Given the description of an element on the screen output the (x, y) to click on. 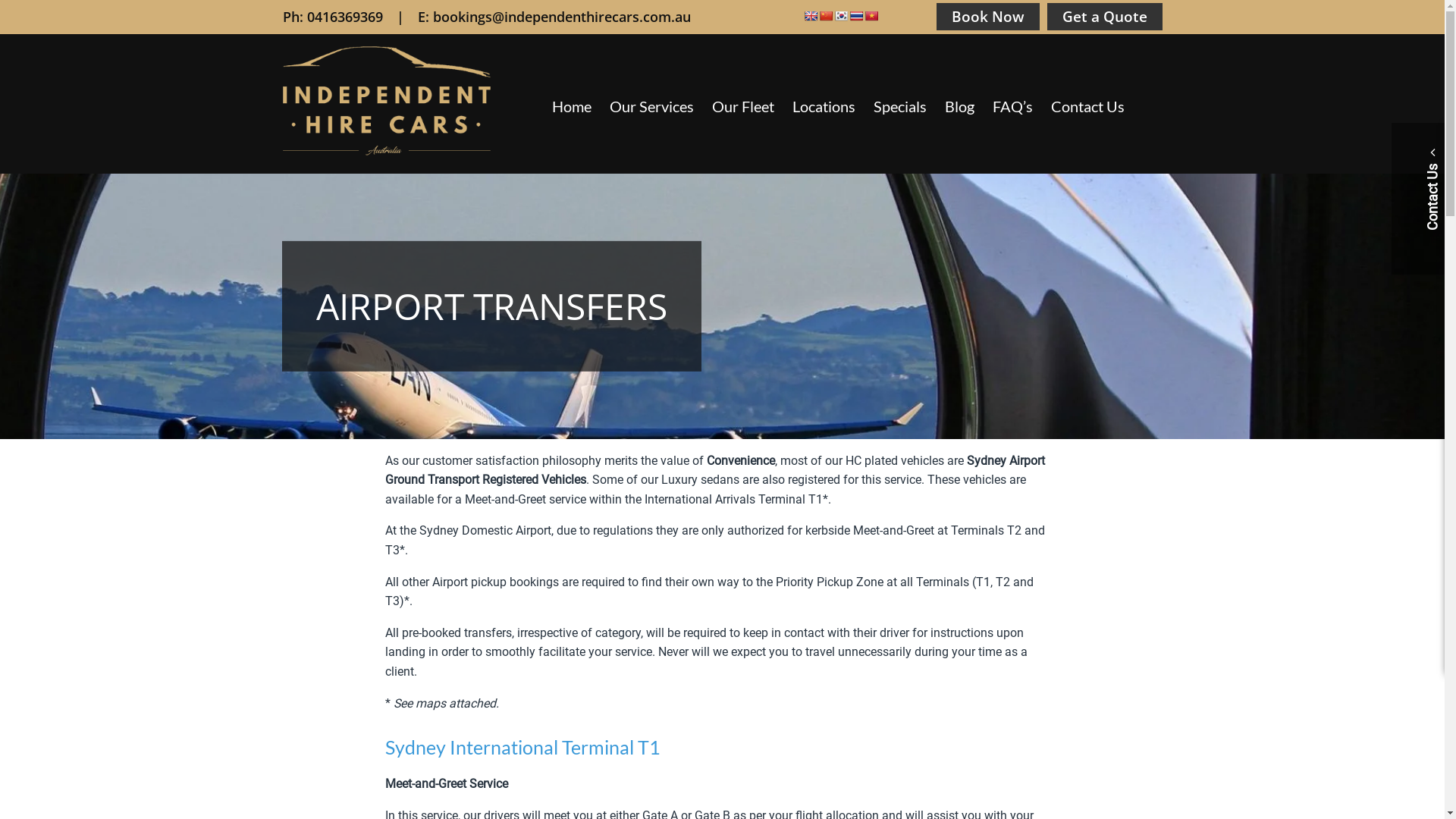
Our Services Element type: text (651, 105)
Ph: 0416369369 Element type: text (332, 16)
Blog Element type: text (959, 105)
Contact Us Element type: text (1087, 105)
Book Now Element type: text (986, 16)
Get a Quote Element type: text (1103, 16)
Locations Element type: text (823, 105)
home Element type: hover (385, 151)
Chinese (Simplified) Element type: hover (825, 15)
Our Fleet Element type: text (742, 105)
Vietnamese Element type: hover (871, 15)
Specials Element type: text (900, 105)
Korean Element type: hover (840, 15)
Home Element type: text (571, 105)
Thai Element type: hover (855, 15)
E: bookings@independenthirecars.com.au Element type: text (553, 16)
English Element type: hover (810, 15)
